Given the description of an element on the screen output the (x, y) to click on. 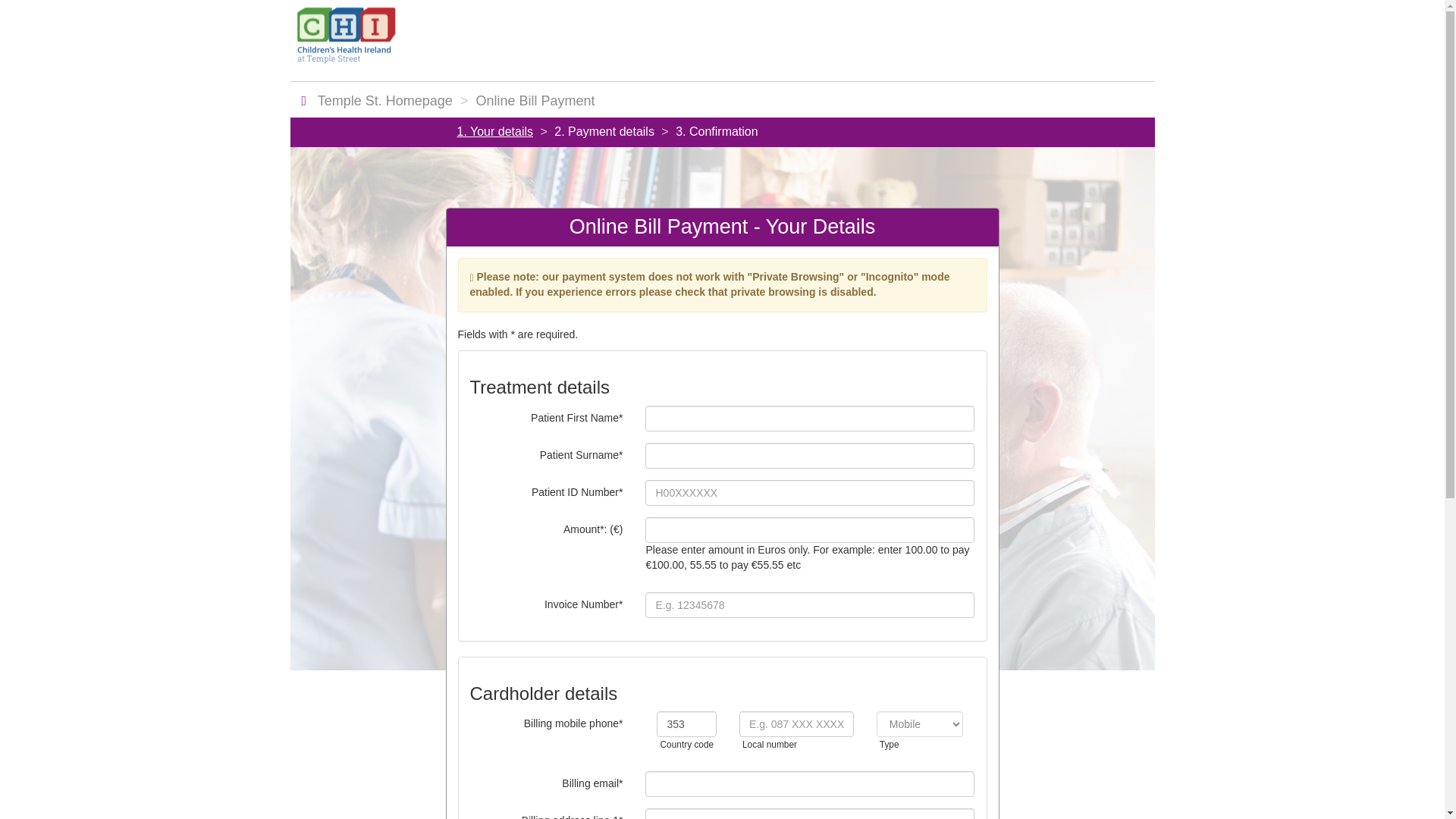
Temple St. Homepage (383, 100)
353 (686, 724)
Online Bill Payment (535, 100)
